Given the description of an element on the screen output the (x, y) to click on. 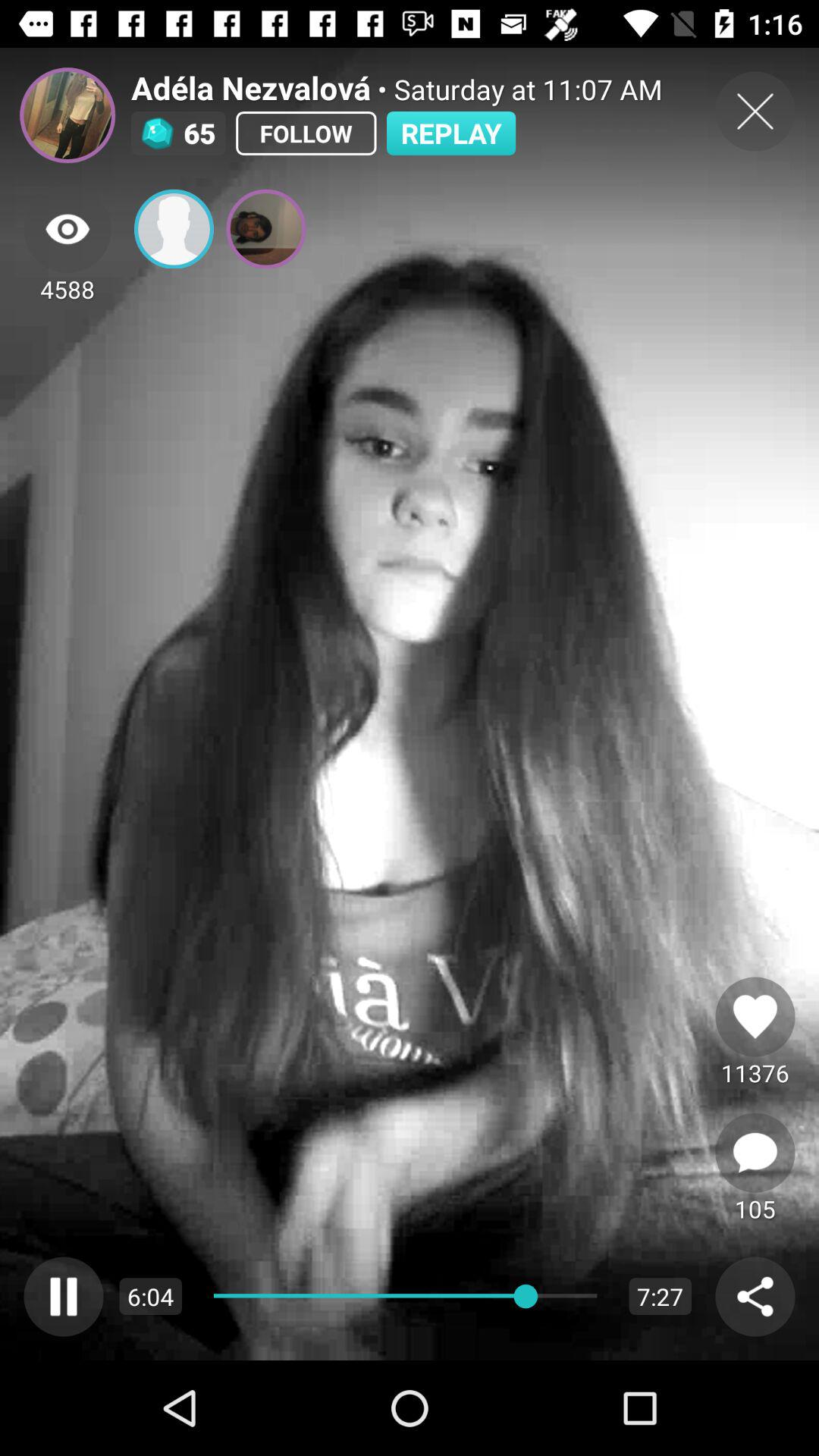
frazzle (67, 115)
